Given the description of an element on the screen output the (x, y) to click on. 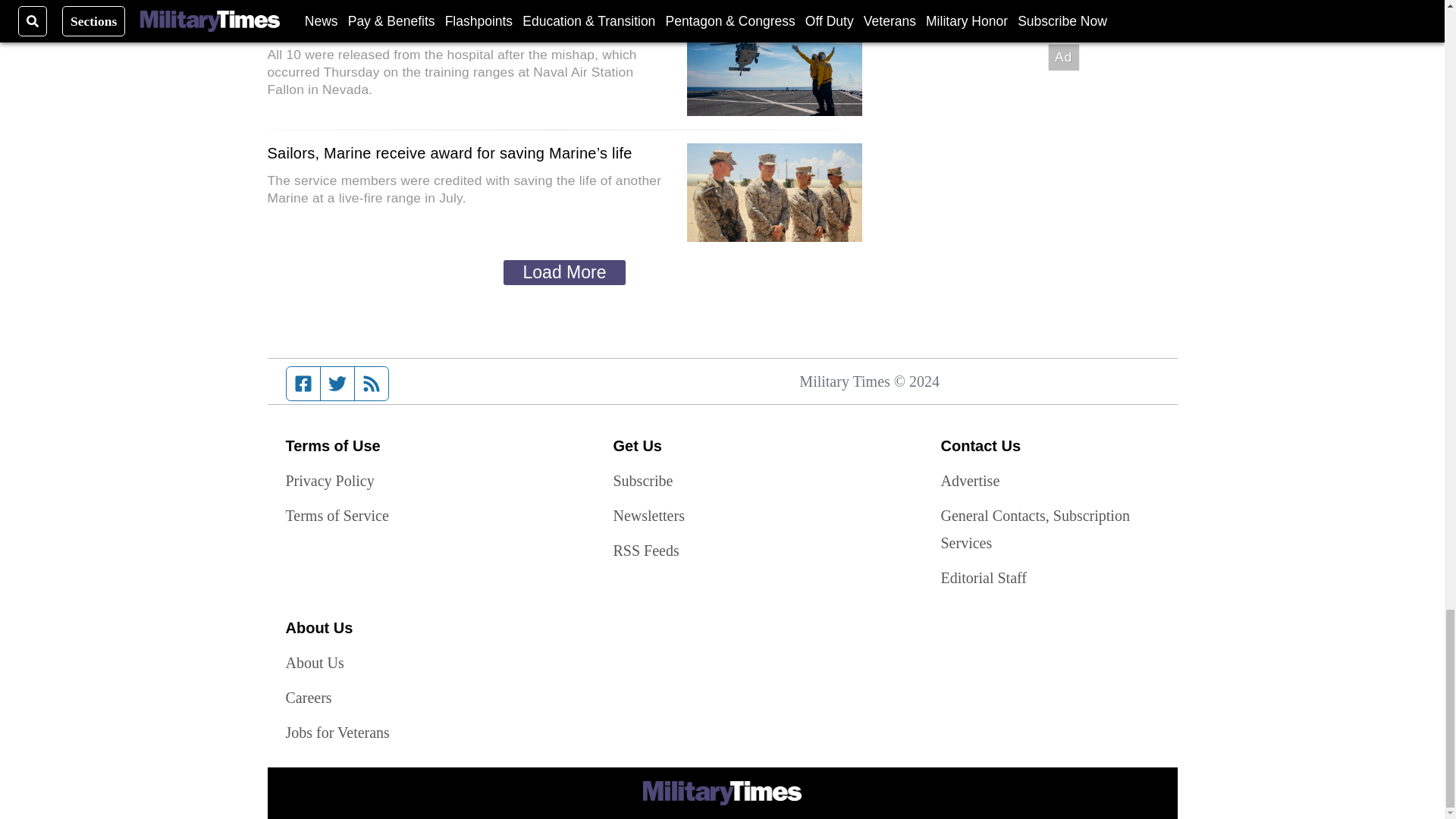
RSS feed (371, 383)
Facebook page (303, 383)
Twitter feed (336, 383)
